Given the description of an element on the screen output the (x, y) to click on. 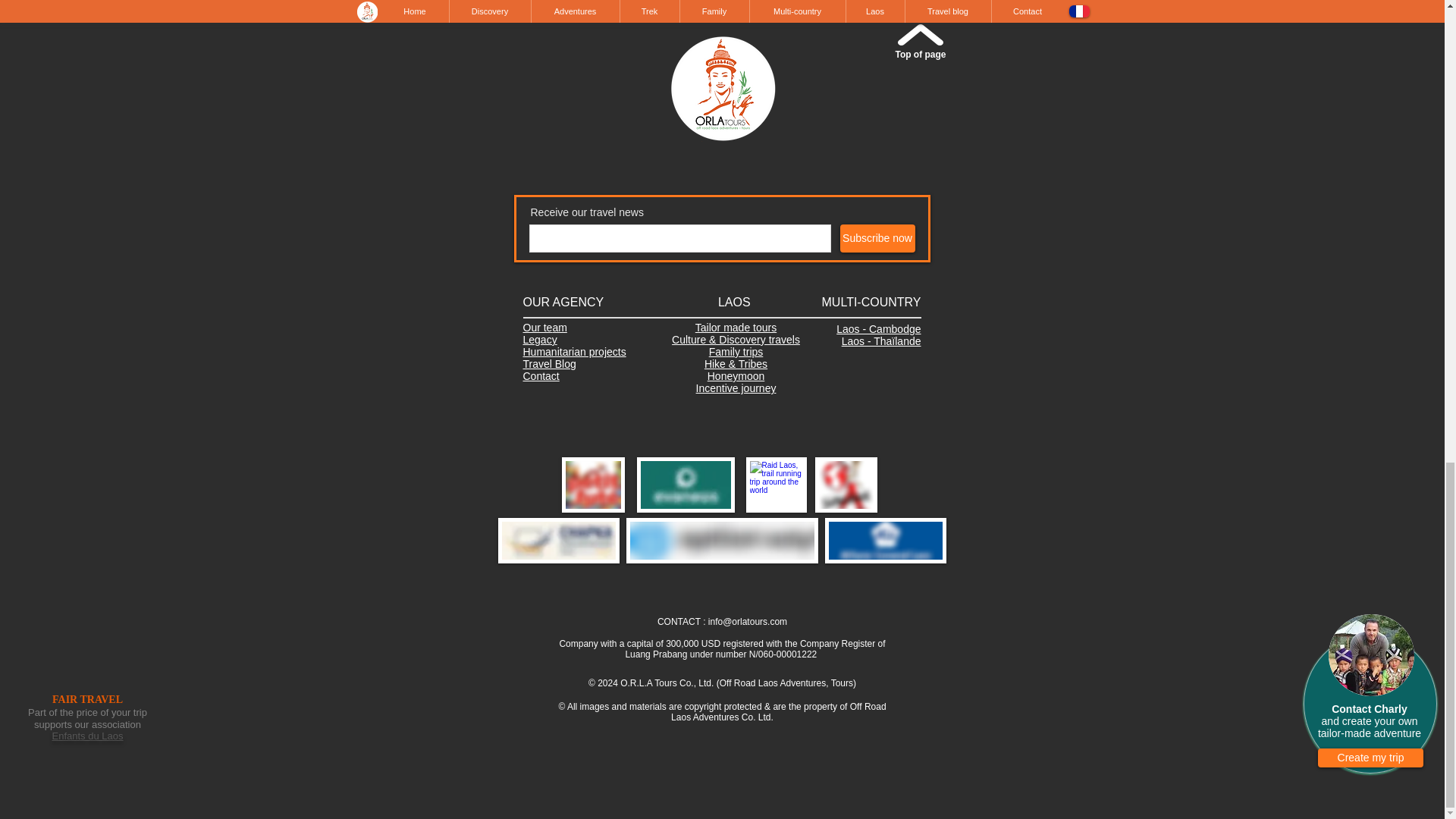
Evaneos, travel with a local agency (686, 484)
Guide du Routard, travel in Laos (844, 484)
Chapka Insurance, travel insurance, Laos (557, 540)
Option Way - flights to Laos - ORLA Tours Laos (722, 540)
Allianz General Laos, insurance in Laos (885, 540)
Raid Laos, trail running trip around the world (775, 484)
